Given the description of an element on the screen output the (x, y) to click on. 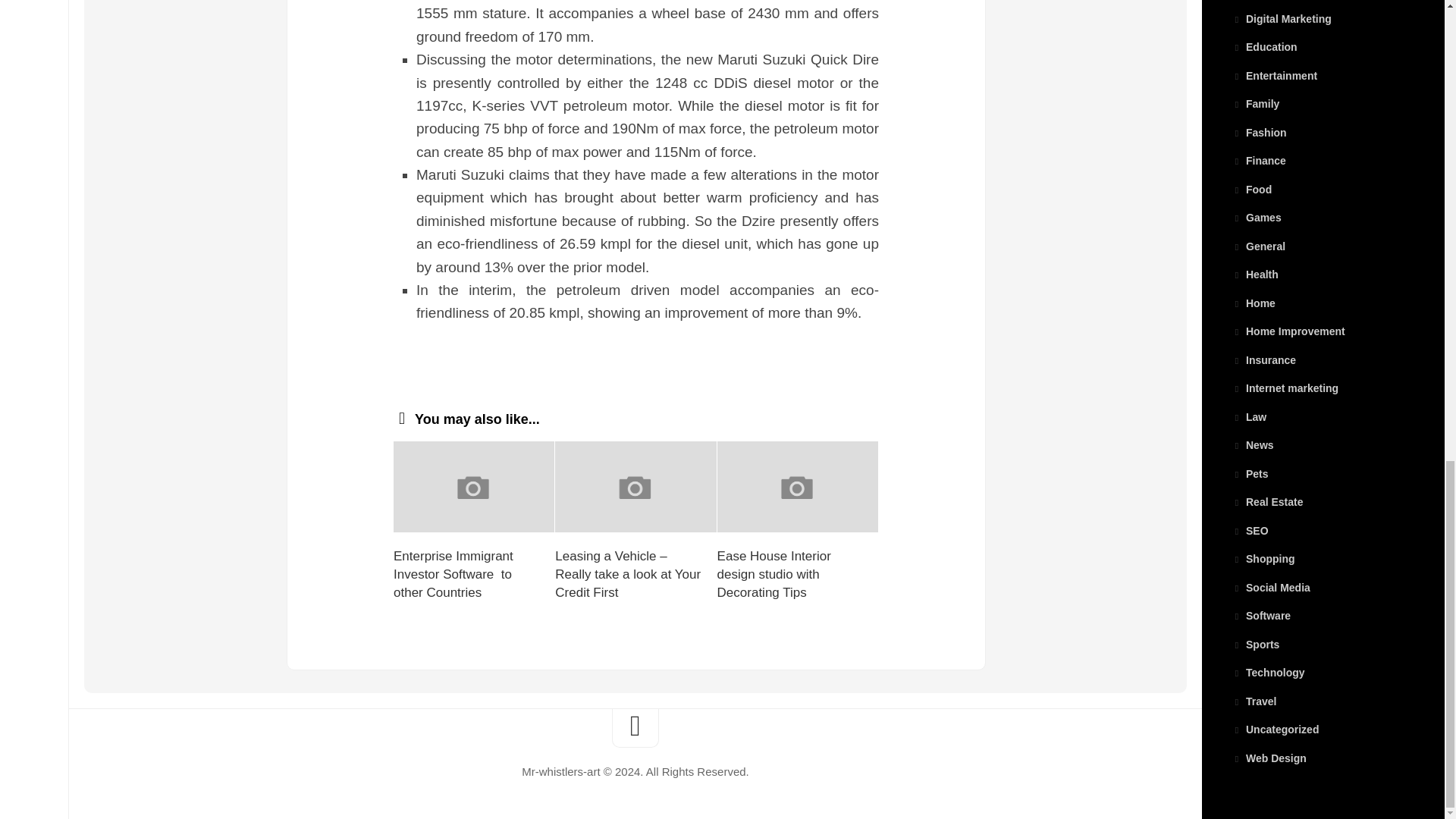
Home Improvement (1288, 331)
Finance (1258, 160)
Education (1264, 46)
SEO (1249, 530)
Games (1256, 217)
Entertainment (1274, 74)
Travel (1253, 701)
Home (1253, 302)
Pets (1249, 473)
Shopping (1263, 558)
